Given the description of an element on the screen output the (x, y) to click on. 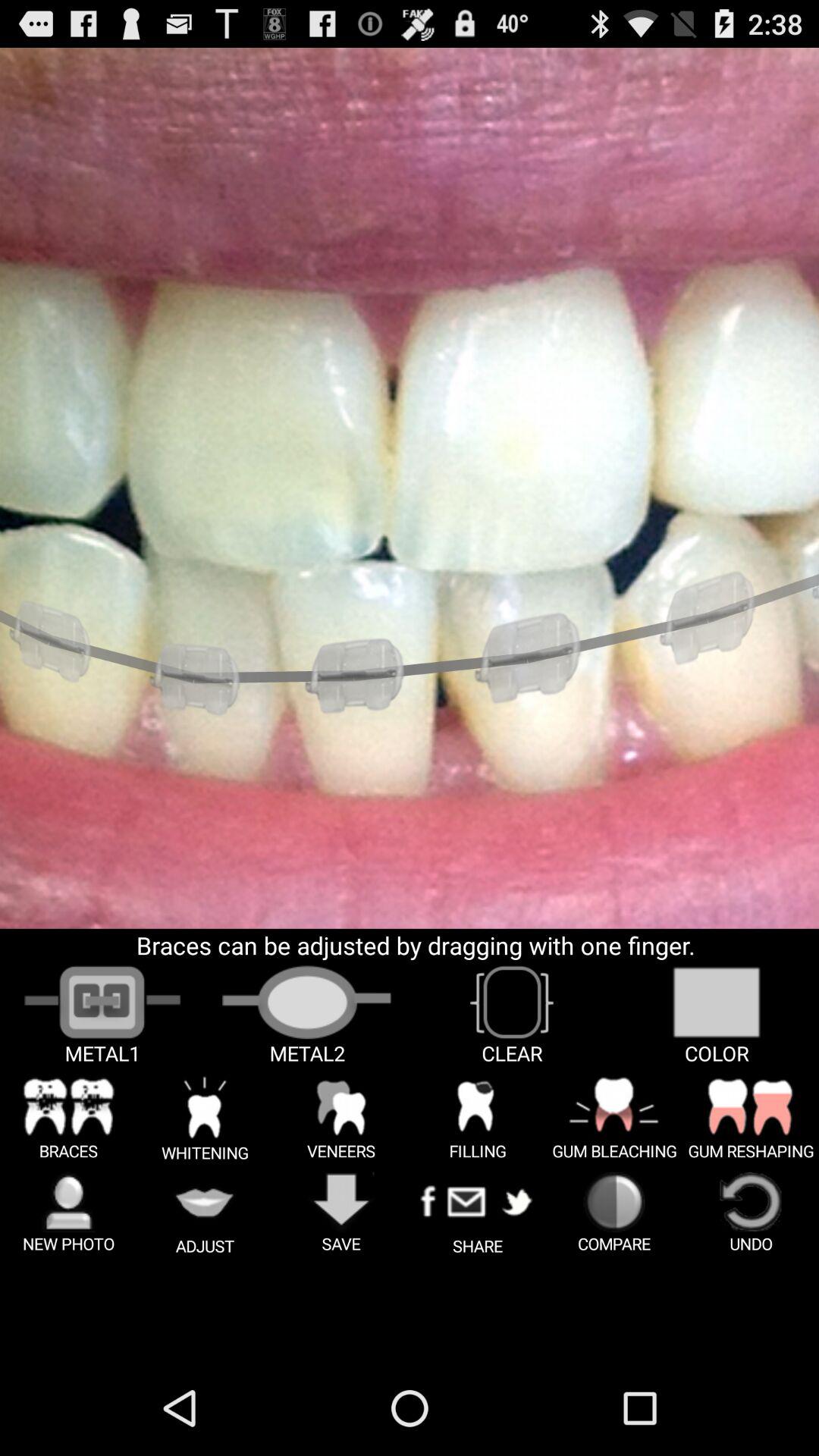
click the image of the metal 2 (306, 1015)
click on the gum reshaping option (750, 1118)
select the option adjust on a page (204, 1213)
click on the text image option veneers (340, 1118)
